Given the description of an element on the screen output the (x, y) to click on. 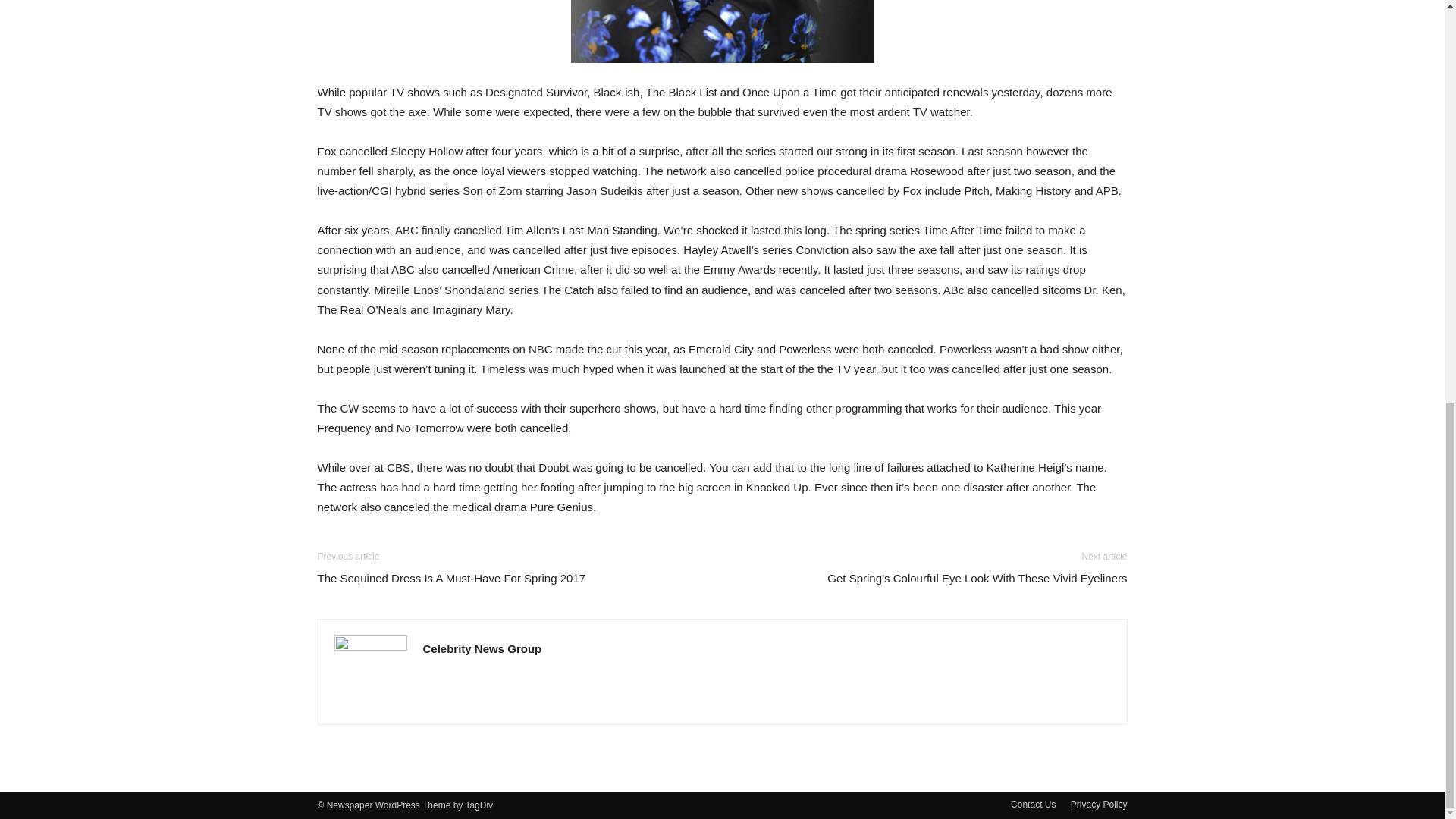
The Sequined Dress Is A Must-Have For Spring 2017 (451, 578)
Celebrity News Group (482, 648)
Privacy Policy (1098, 804)
Contact Us (1032, 804)
